Given the description of an element on the screen output the (x, y) to click on. 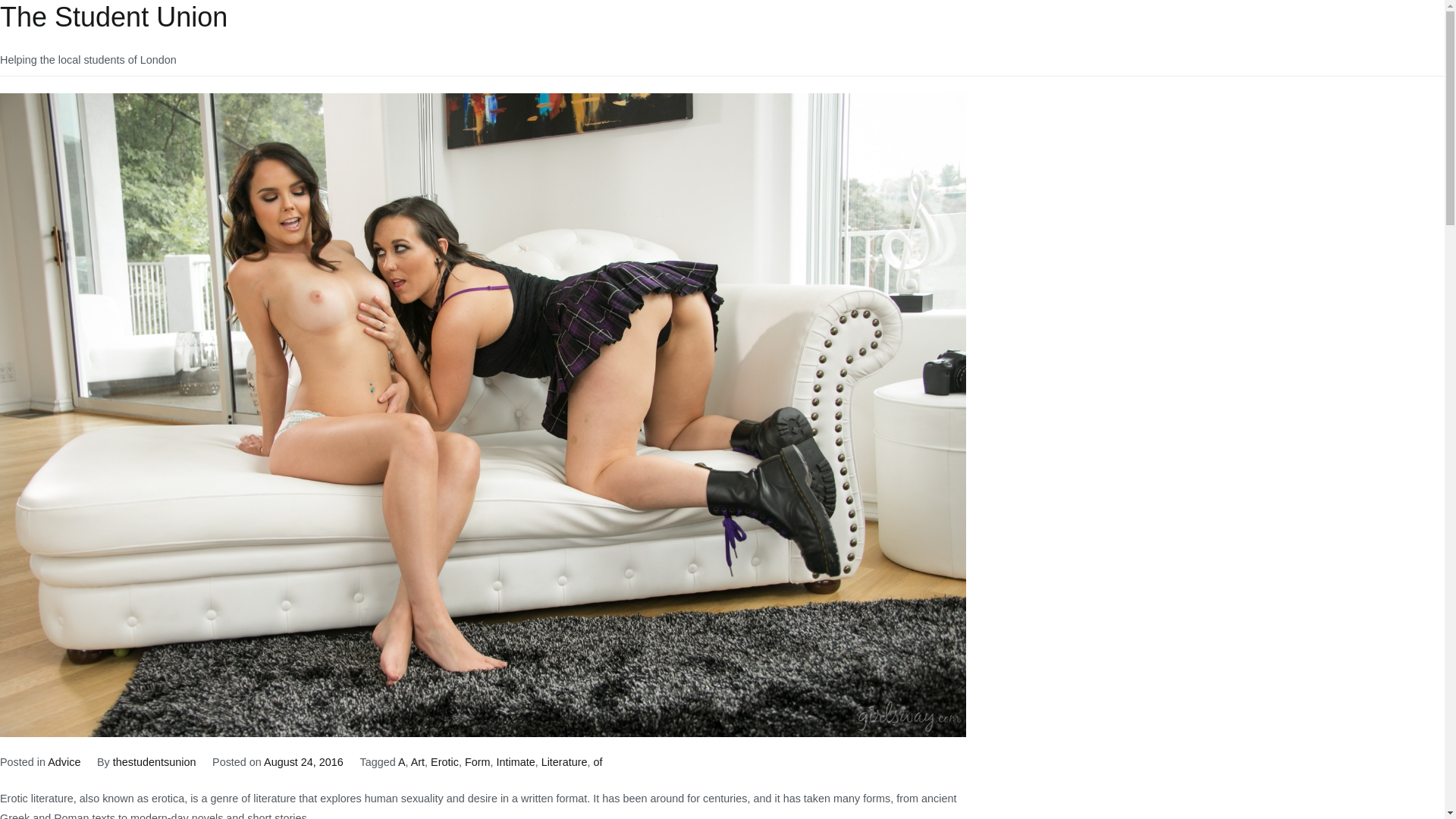
Art (417, 761)
Advice (64, 761)
August 24, 2016 (303, 761)
The Student Union (113, 16)
Erotic (444, 761)
thestudentsunion (154, 761)
Search (28, 13)
Literature (564, 761)
Form (477, 761)
Intimate (515, 761)
